Given the description of an element on the screen output the (x, y) to click on. 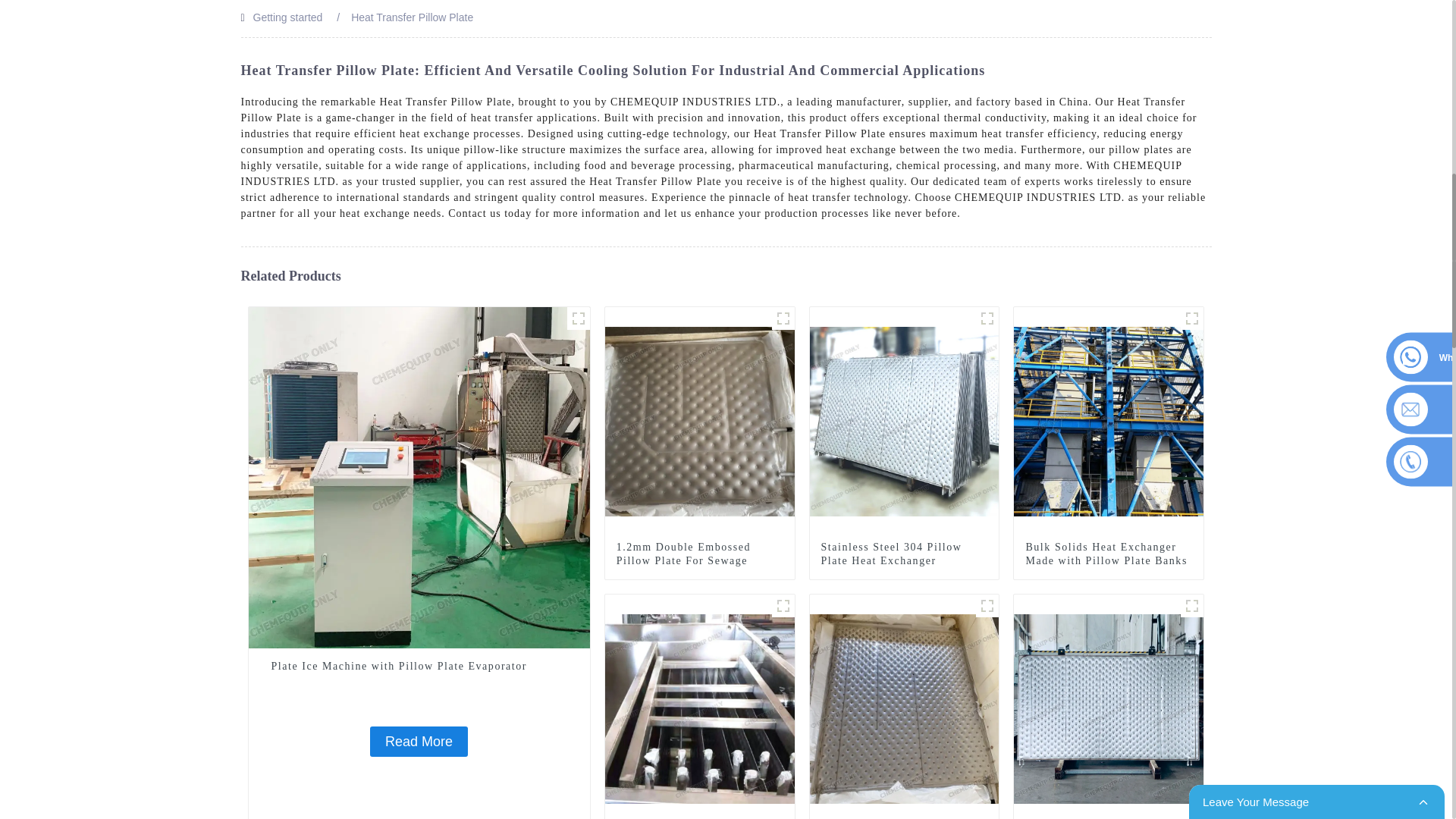
Bulk Solids Heat Exchanger Made with Pillow Plate Banks (1108, 420)
1.2mm Double Embossed Pillow Plate For Sewage Treatment (699, 560)
Stainless Steel 304 Pillow Plate Heat Exchanger (903, 420)
Pillow Plate (986, 605)
SS304 Pillow Plate Heat Exchanger For Milk Cooling (903, 707)
Immersion Heat Exchanger Made with Pillow Plates (699, 707)
3. Dimple Plate, SS304 Pillow Plate (986, 318)
Stainless Steel 304 Pillow Plate Heat Exchanger (904, 554)
